Given the description of an element on the screen output the (x, y) to click on. 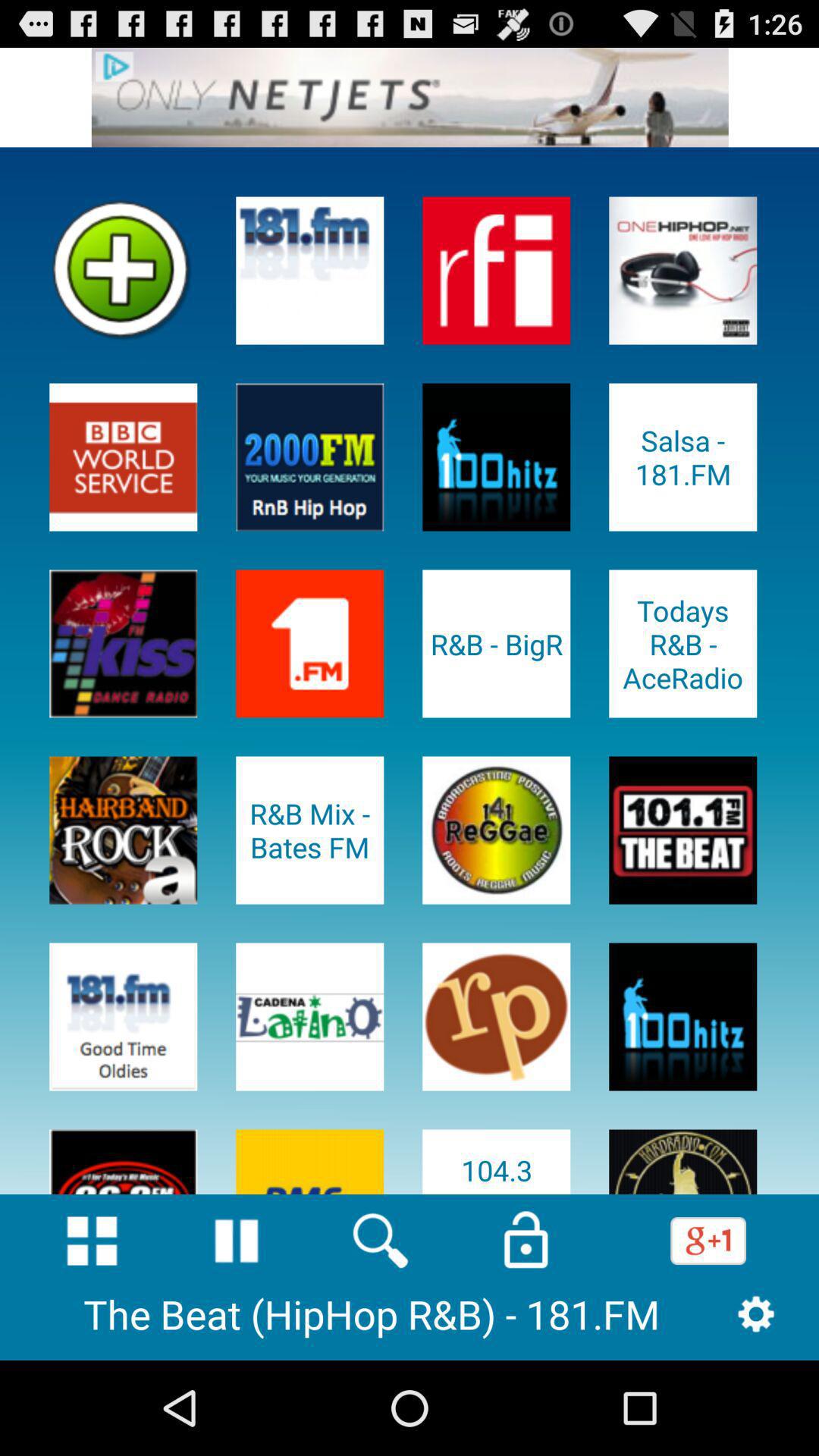
down size (91, 1240)
